Given the description of an element on the screen output the (x, y) to click on. 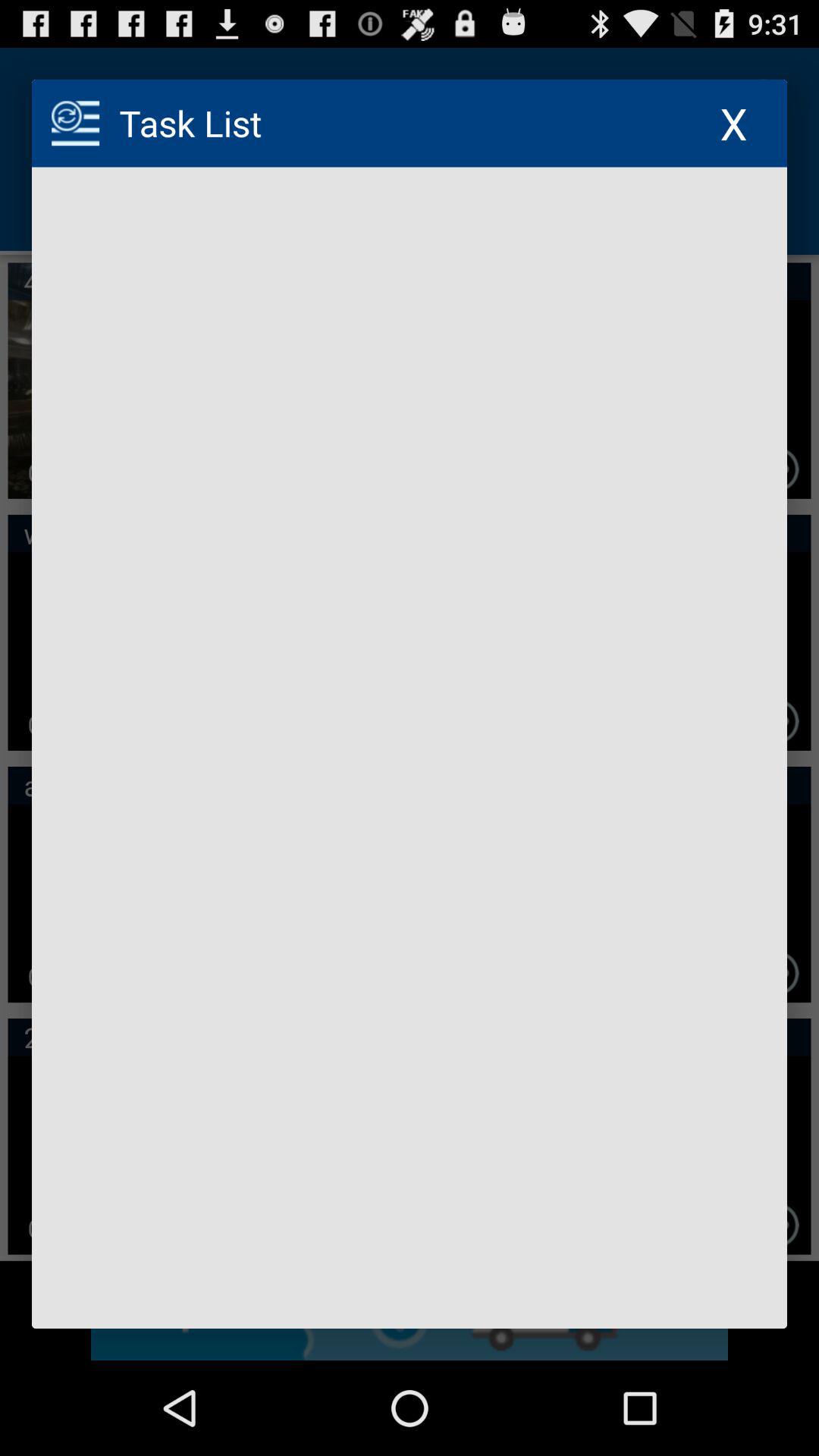
turn on the icon at the top right corner (733, 123)
